Given the description of an element on the screen output the (x, y) to click on. 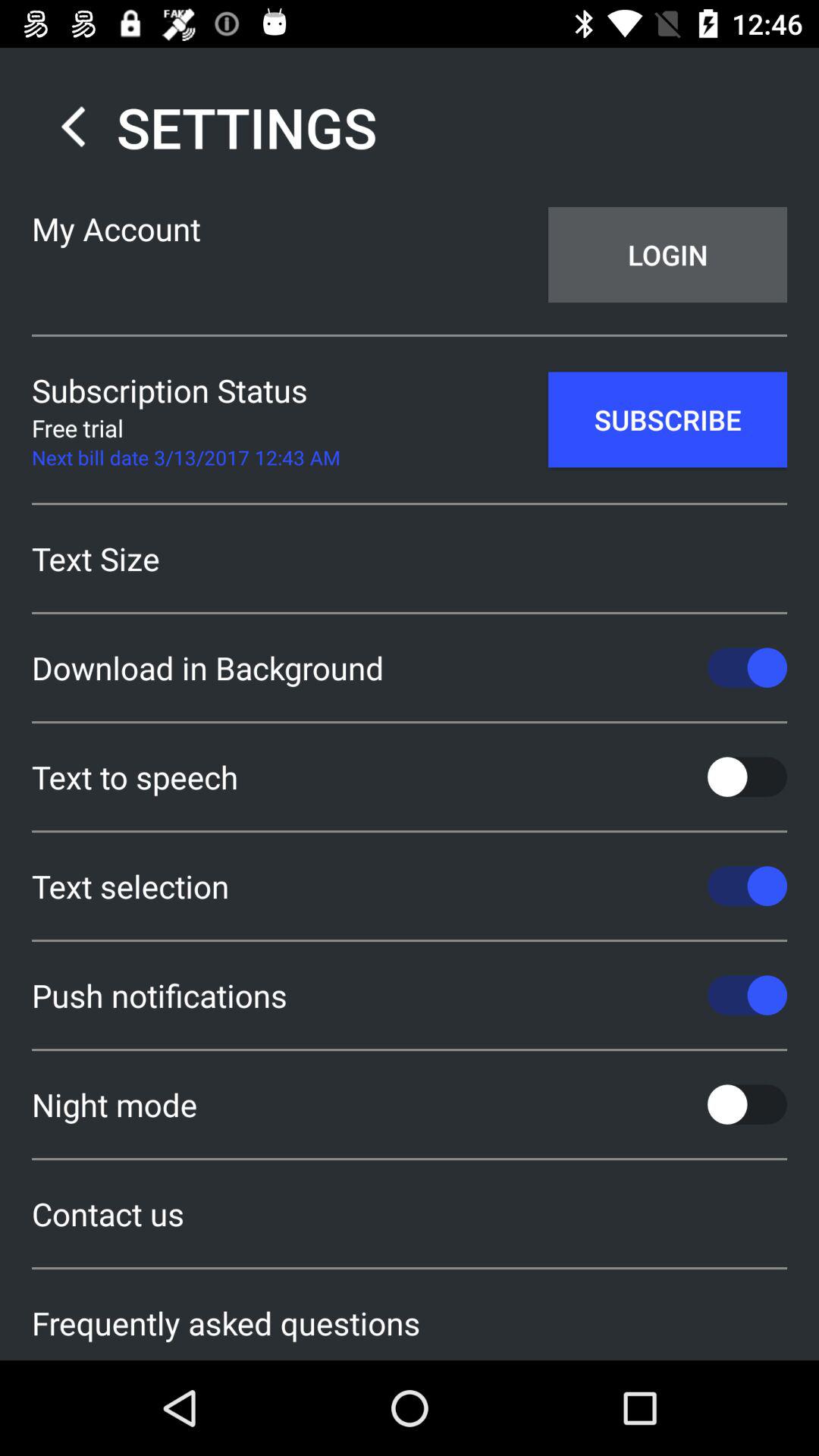
press the text selection item (409, 885)
